Given the description of an element on the screen output the (x, y) to click on. 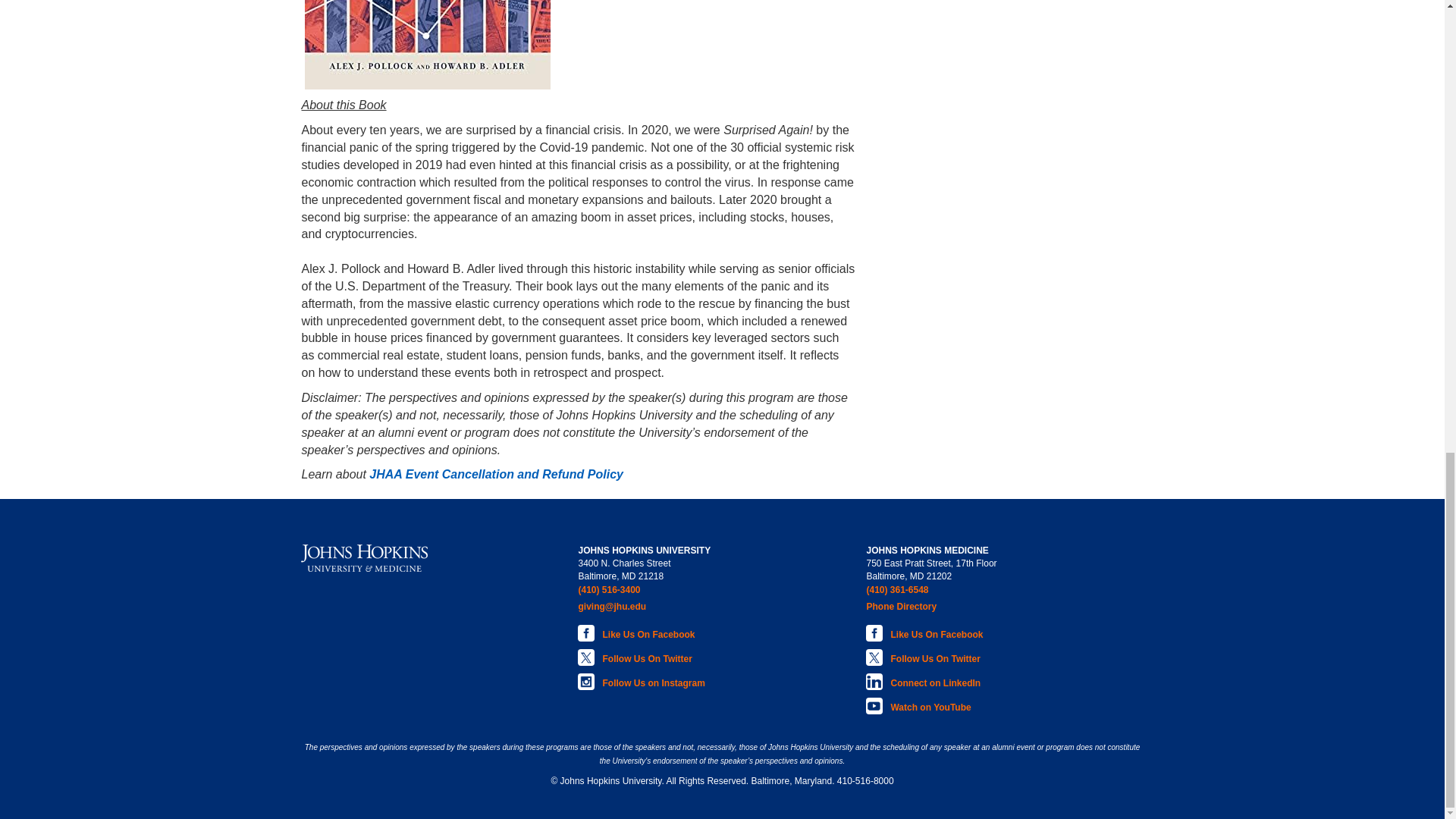
Follow Us On Twitter (930, 655)
Follow Us on Instagram (644, 679)
Phone Directory (930, 606)
Connect on LinkedIn (930, 679)
Like Us On Facebook (930, 630)
Watch on YouTube (930, 703)
Like Us On Facebook (644, 630)
JHAA Event Cancellation and Refund Policy (496, 473)
Follow Us On Twitter (644, 655)
